Given the description of an element on the screen output the (x, y) to click on. 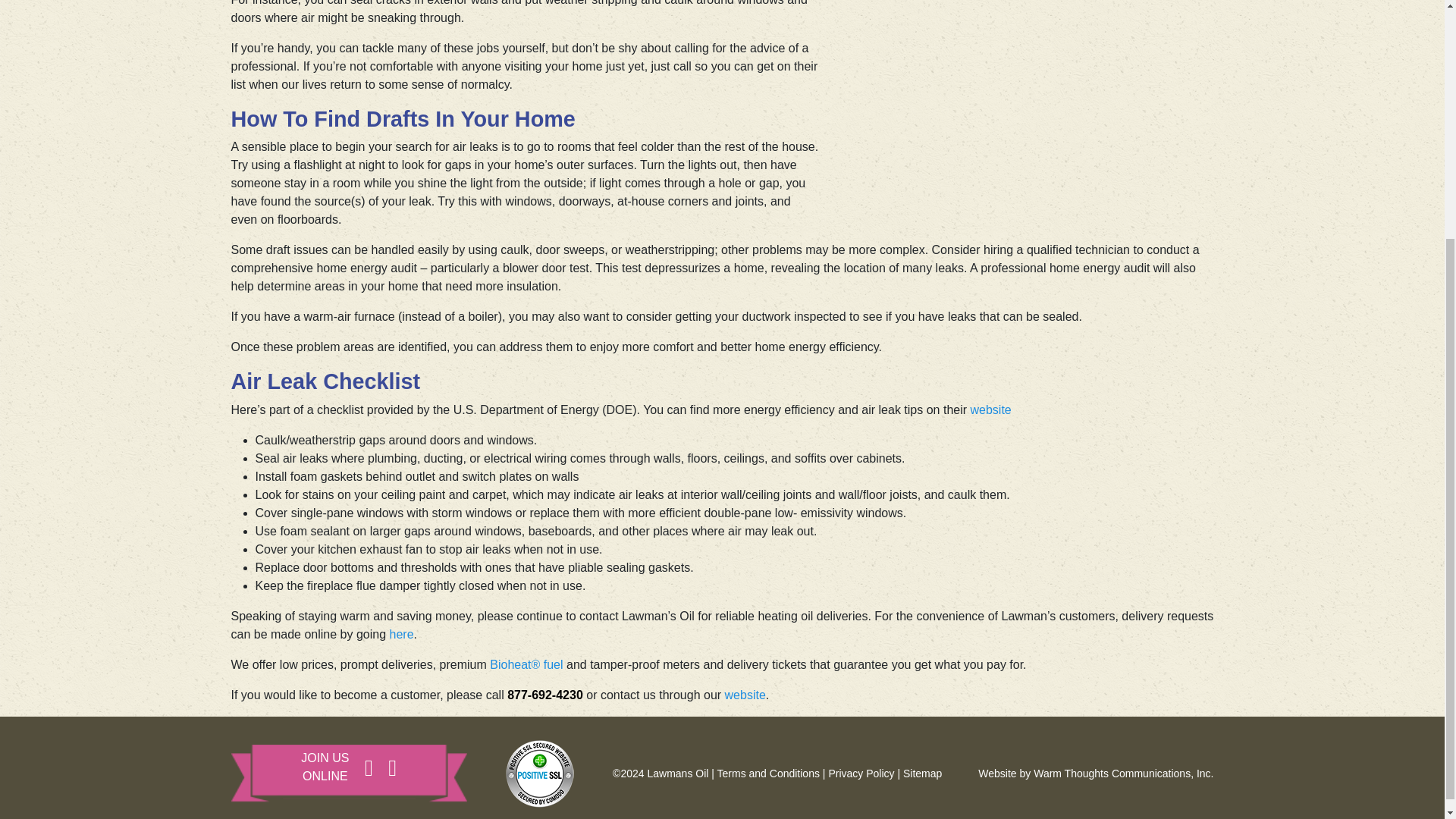
privacy (860, 773)
about our oil (525, 664)
our main page (745, 694)
twitter (385, 775)
website (745, 694)
my account (401, 634)
here (401, 634)
Sitemap (922, 773)
website (991, 409)
positive ssl (539, 773)
